Given the description of an element on the screen output the (x, y) to click on. 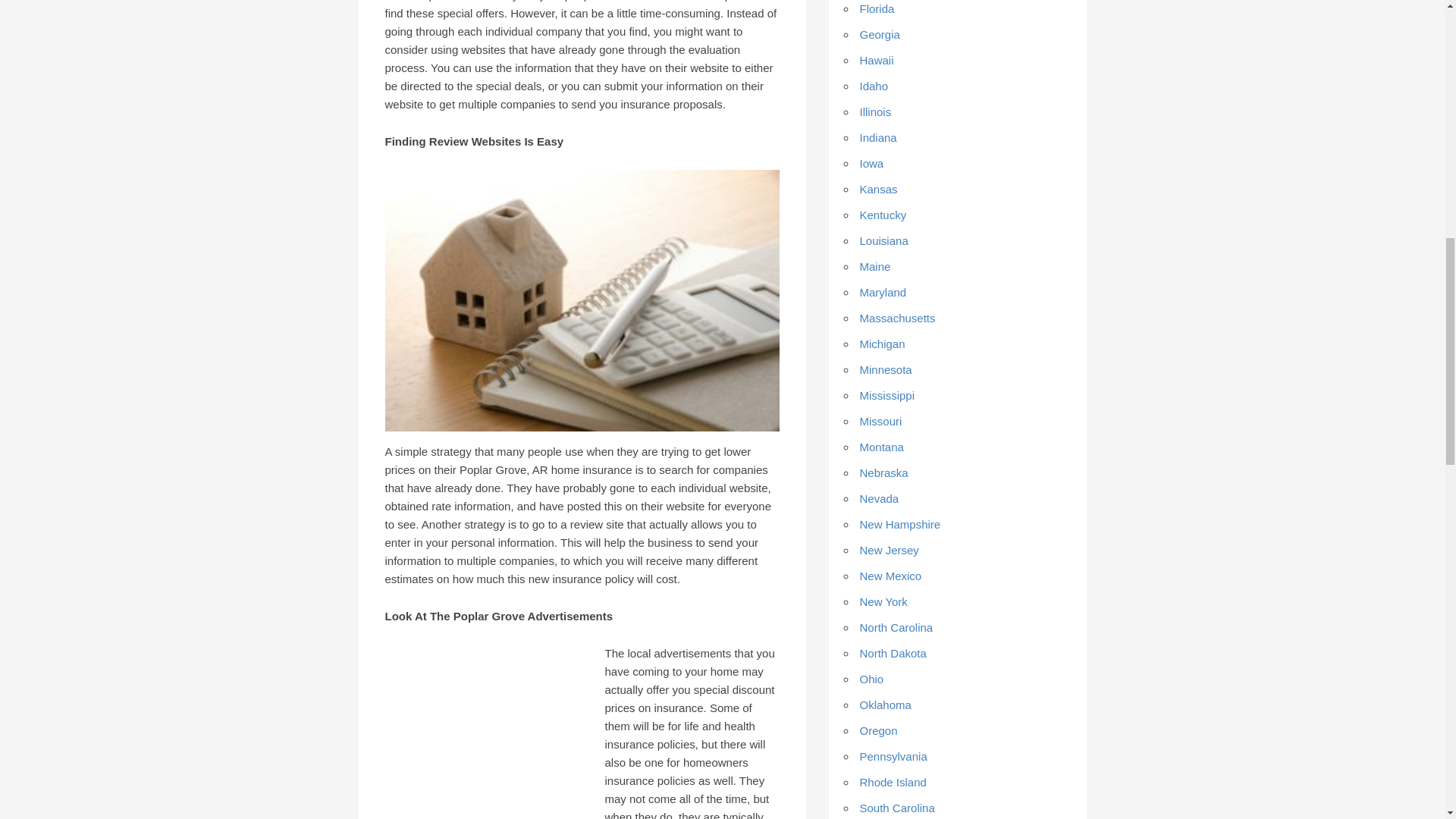
Kansas (879, 188)
Indiana (878, 137)
Mississippi (887, 395)
Minnesota (886, 369)
Kentucky (883, 214)
Missouri (881, 420)
Georgia (879, 33)
Iowa (871, 163)
Louisiana (884, 240)
Maryland (883, 291)
Massachusetts (898, 318)
Michigan (882, 343)
Florida (877, 8)
Illinois (875, 111)
Idaho (874, 85)
